Given the description of an element on the screen output the (x, y) to click on. 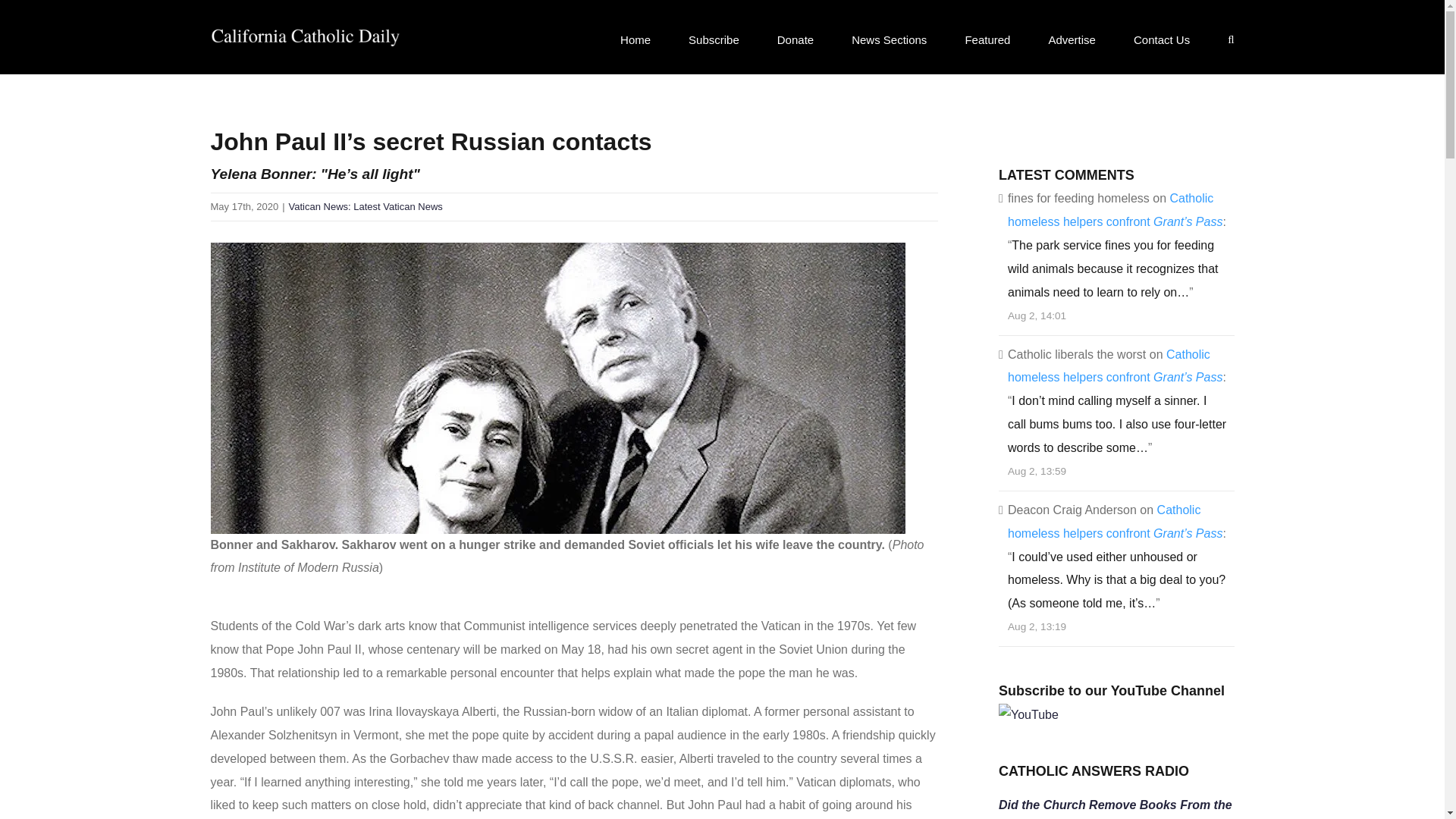
News Sections (888, 39)
